Given the description of an element on the screen output the (x, y) to click on. 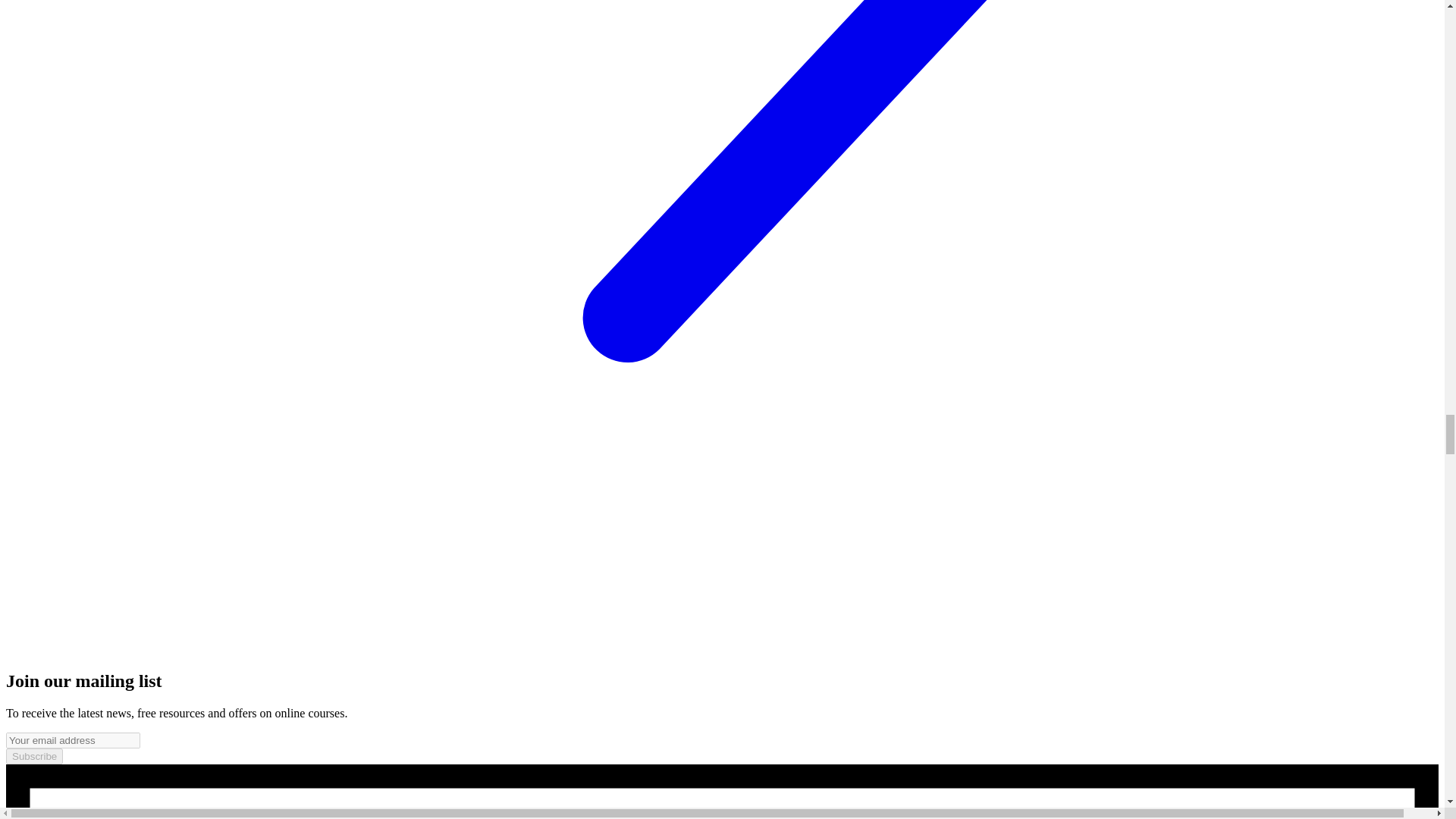
Subscribe (33, 756)
